Given the description of an element on the screen output the (x, y) to click on. 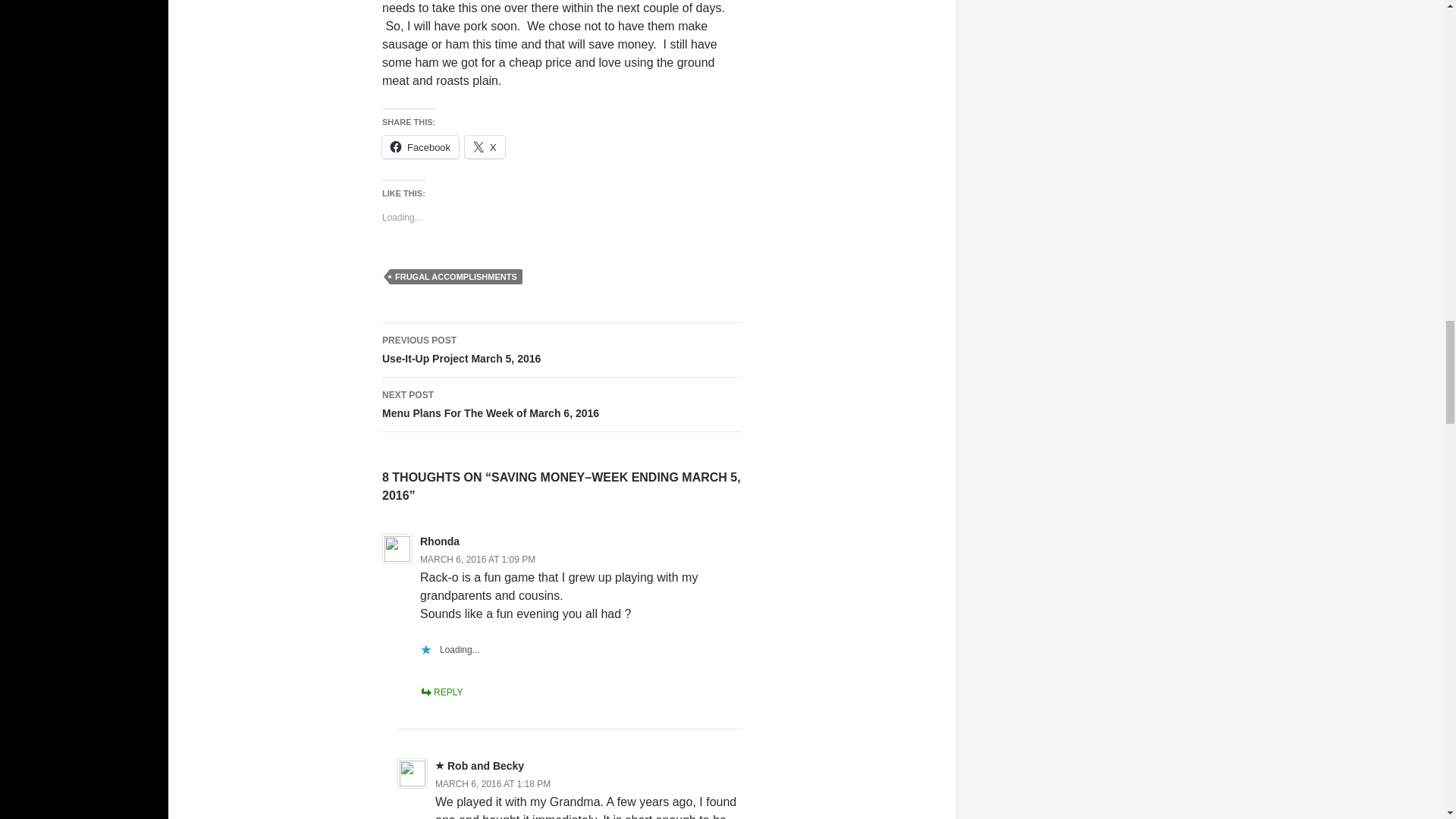
REPLY (441, 692)
FRUGAL ACCOMPLISHMENTS (456, 275)
X (484, 146)
MARCH 6, 2016 AT 1:09 PM (561, 404)
Click to share on Facebook (477, 558)
Facebook (419, 146)
Click to share on X (561, 349)
